Given the description of an element on the screen output the (x, y) to click on. 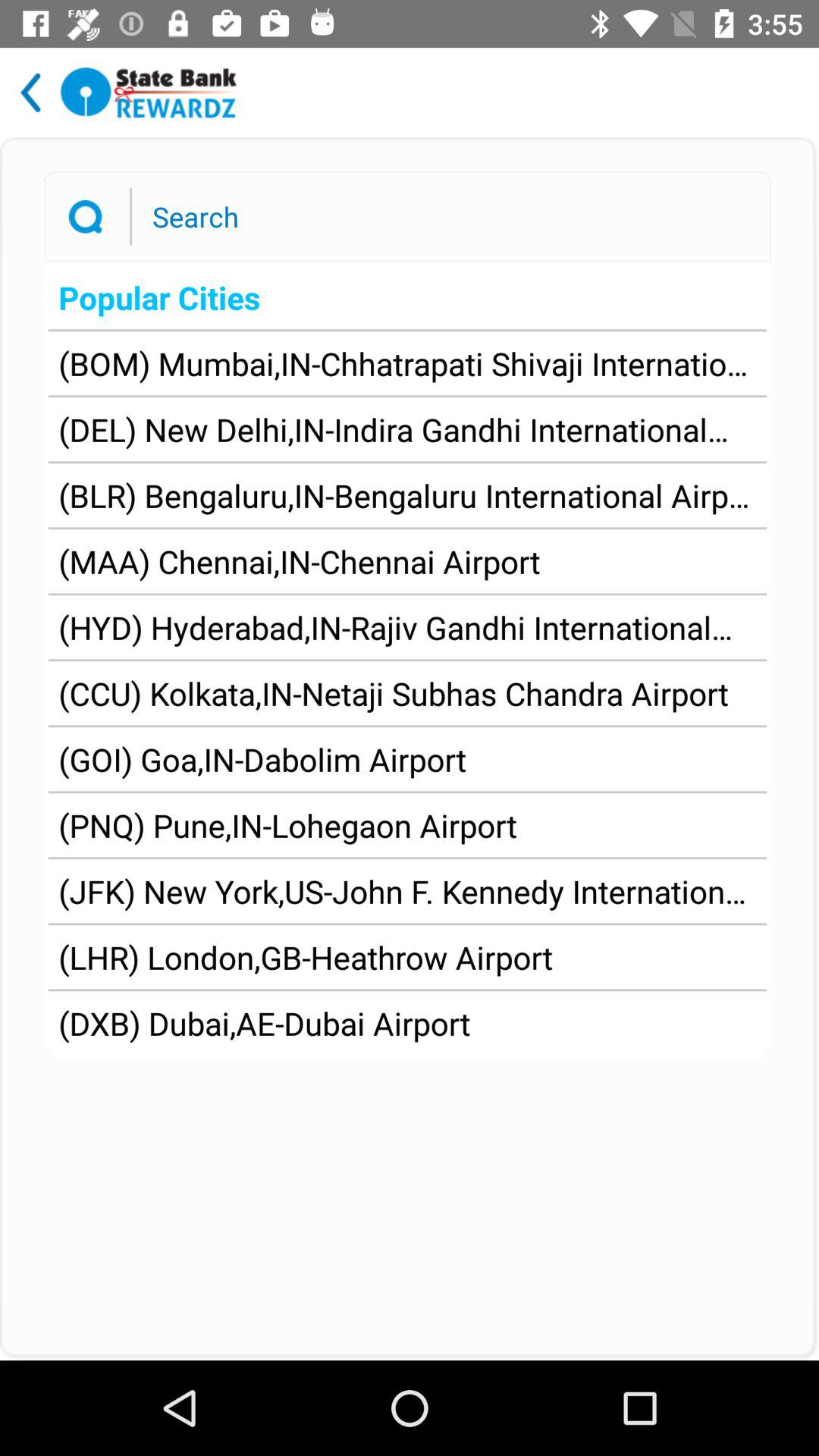
tap app below jfk new york app (305, 956)
